Given the description of an element on the screen output the (x, y) to click on. 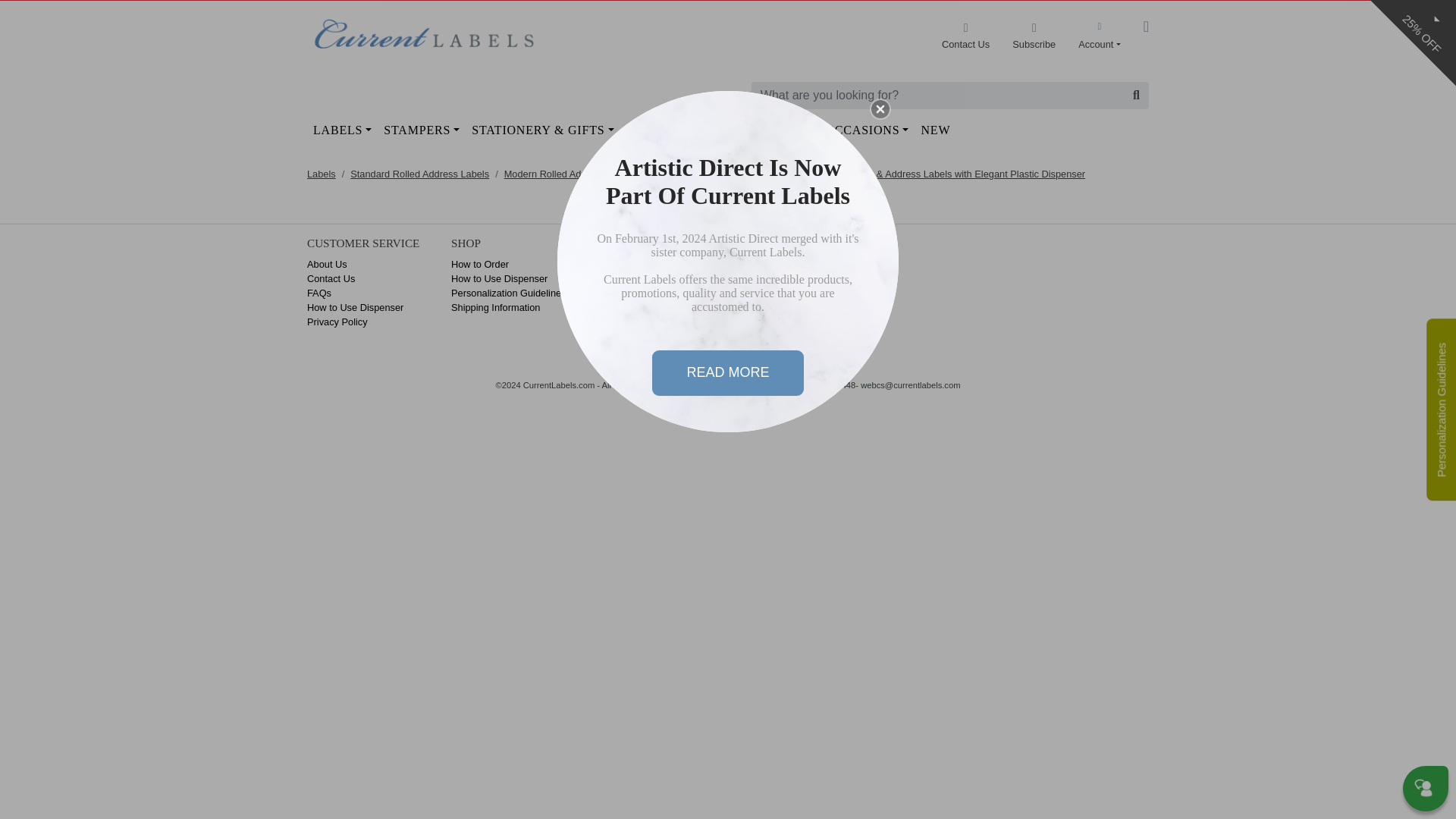
Close (879, 108)
Account (1099, 34)
LABELS (342, 130)
